Given the description of an element on the screen output the (x, y) to click on. 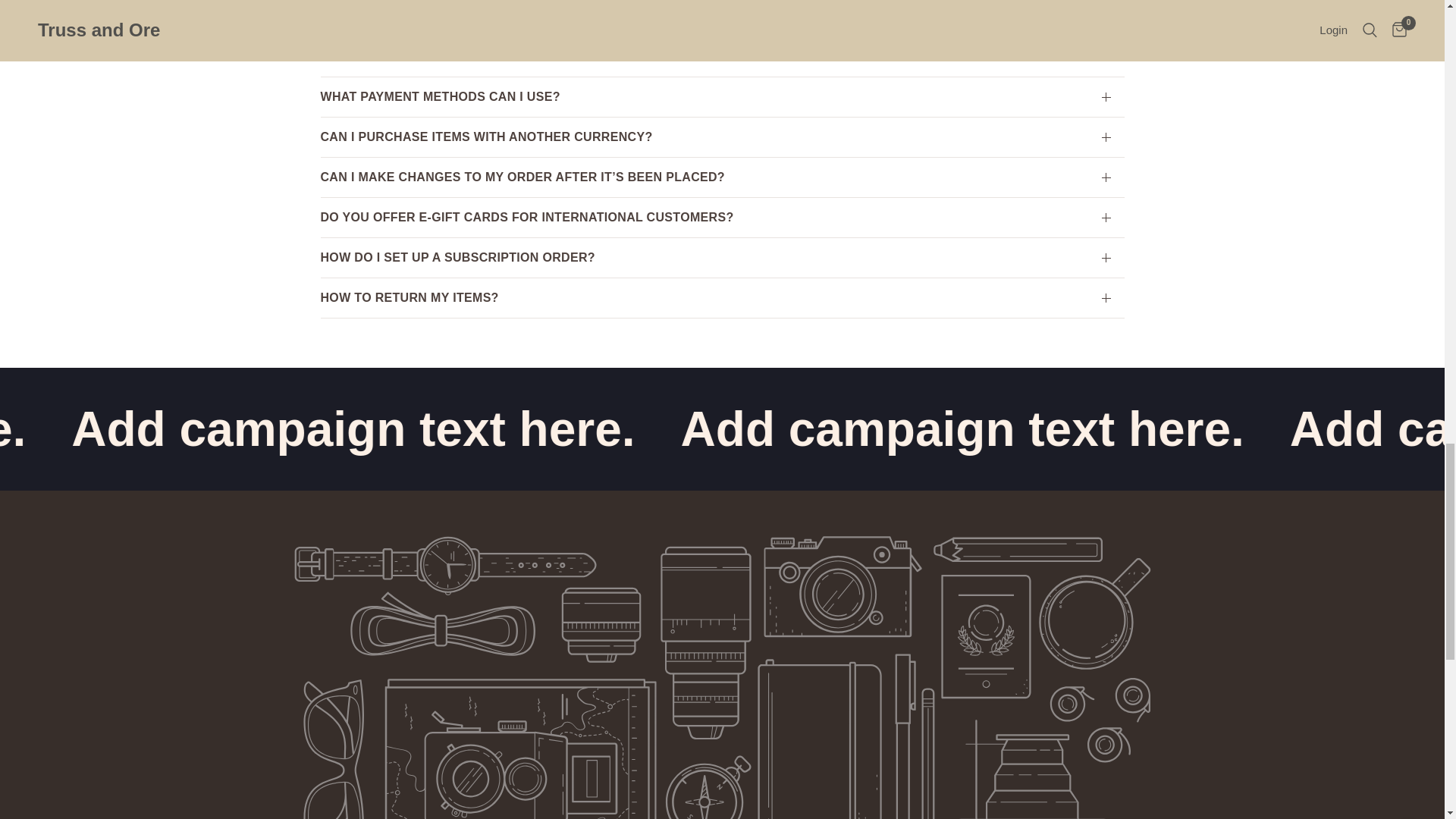
Add campaign text here. (679, 428)
Add campaign text here. (187, 428)
